Given the description of an element on the screen output the (x, y) to click on. 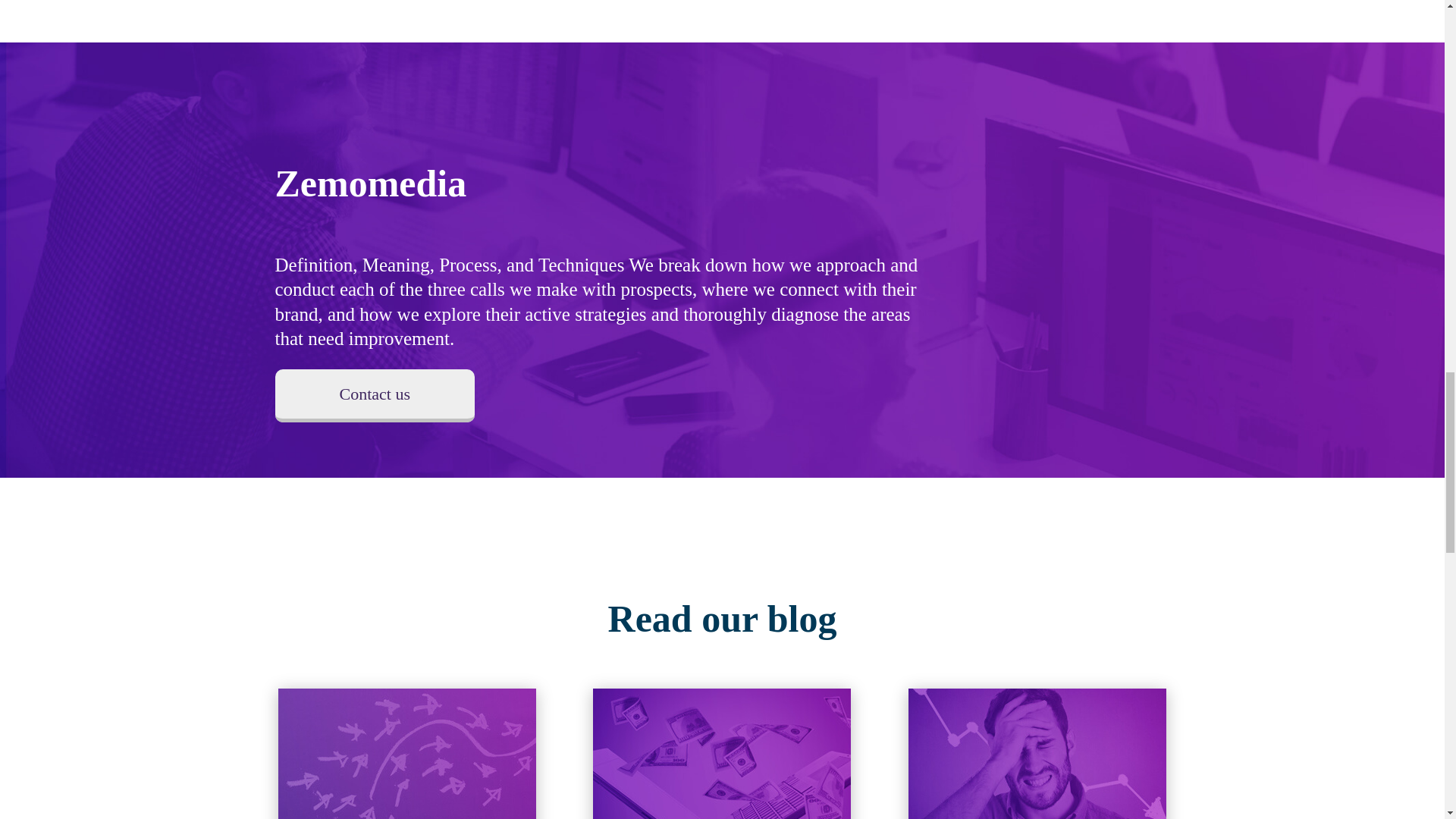
Contact us (374, 395)
